Given the description of an element on the screen output the (x, y) to click on. 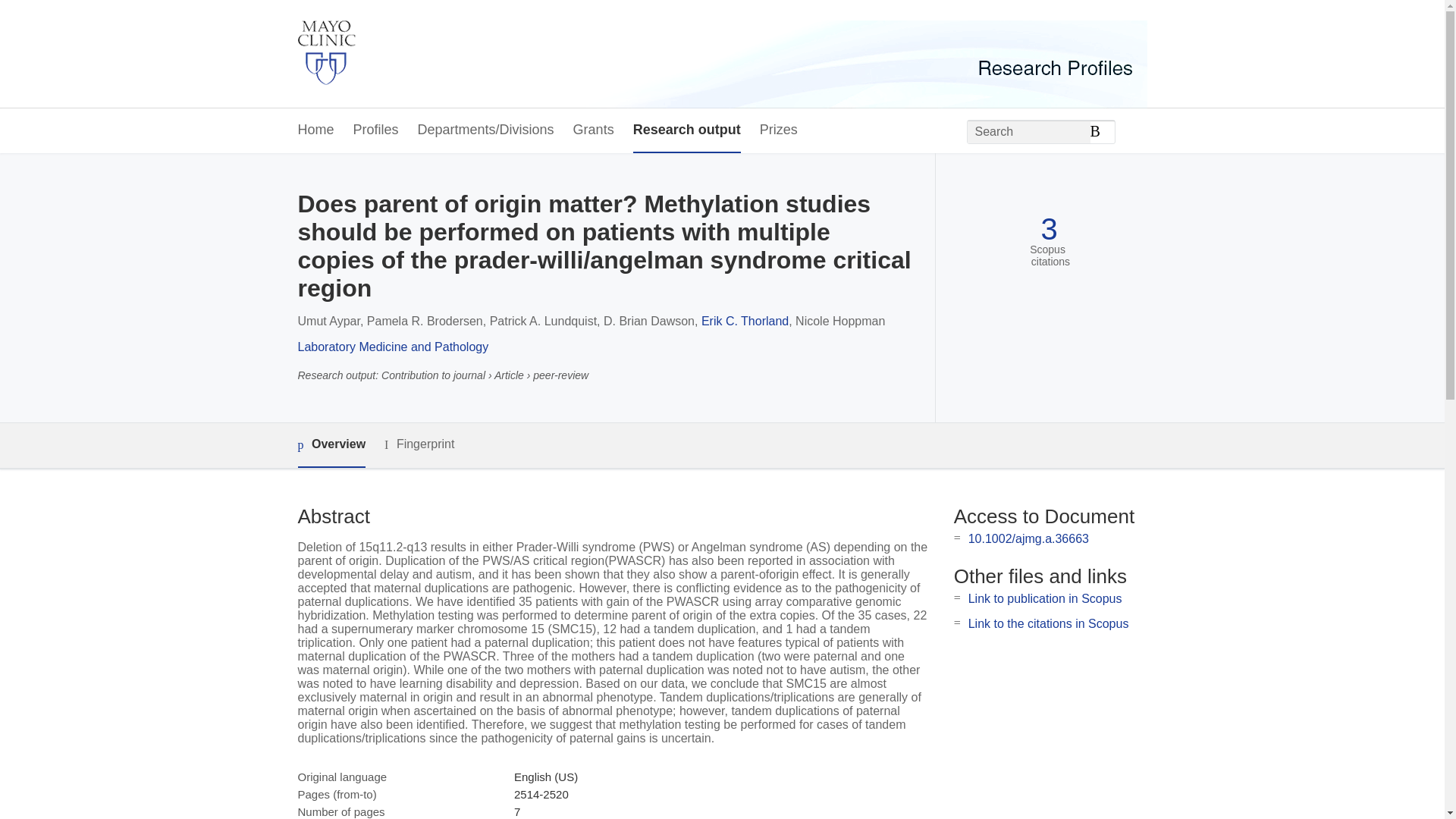
Erik C. Thorland (745, 320)
Grants (593, 130)
Laboratory Medicine and Pathology (392, 346)
Link to the citations in Scopus (1048, 623)
Profiles (375, 130)
Overview (331, 445)
Fingerprint (419, 444)
Link to publication in Scopus (1045, 598)
Research output (687, 130)
